Given the description of an element on the screen output the (x, y) to click on. 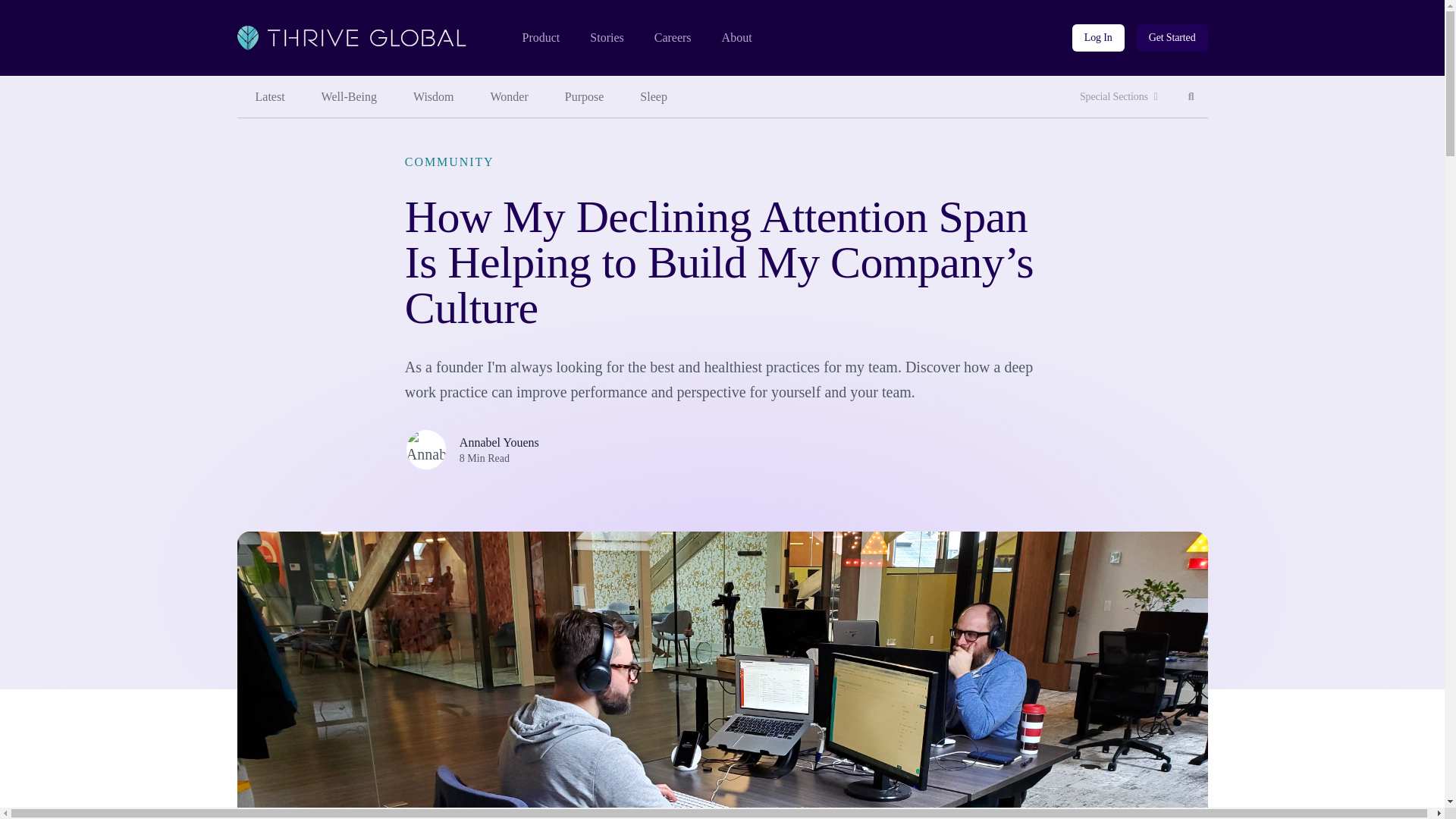
Careers (1191, 97)
Stories (672, 37)
Well-Being (606, 37)
Product (348, 96)
Latest (540, 37)
Special Sections (268, 96)
Sleep (1118, 97)
Get Started (653, 96)
Log In (1172, 37)
About (1097, 37)
Wonder (737, 37)
Purpose (509, 96)
Wisdom (585, 96)
